Given the description of an element on the screen output the (x, y) to click on. 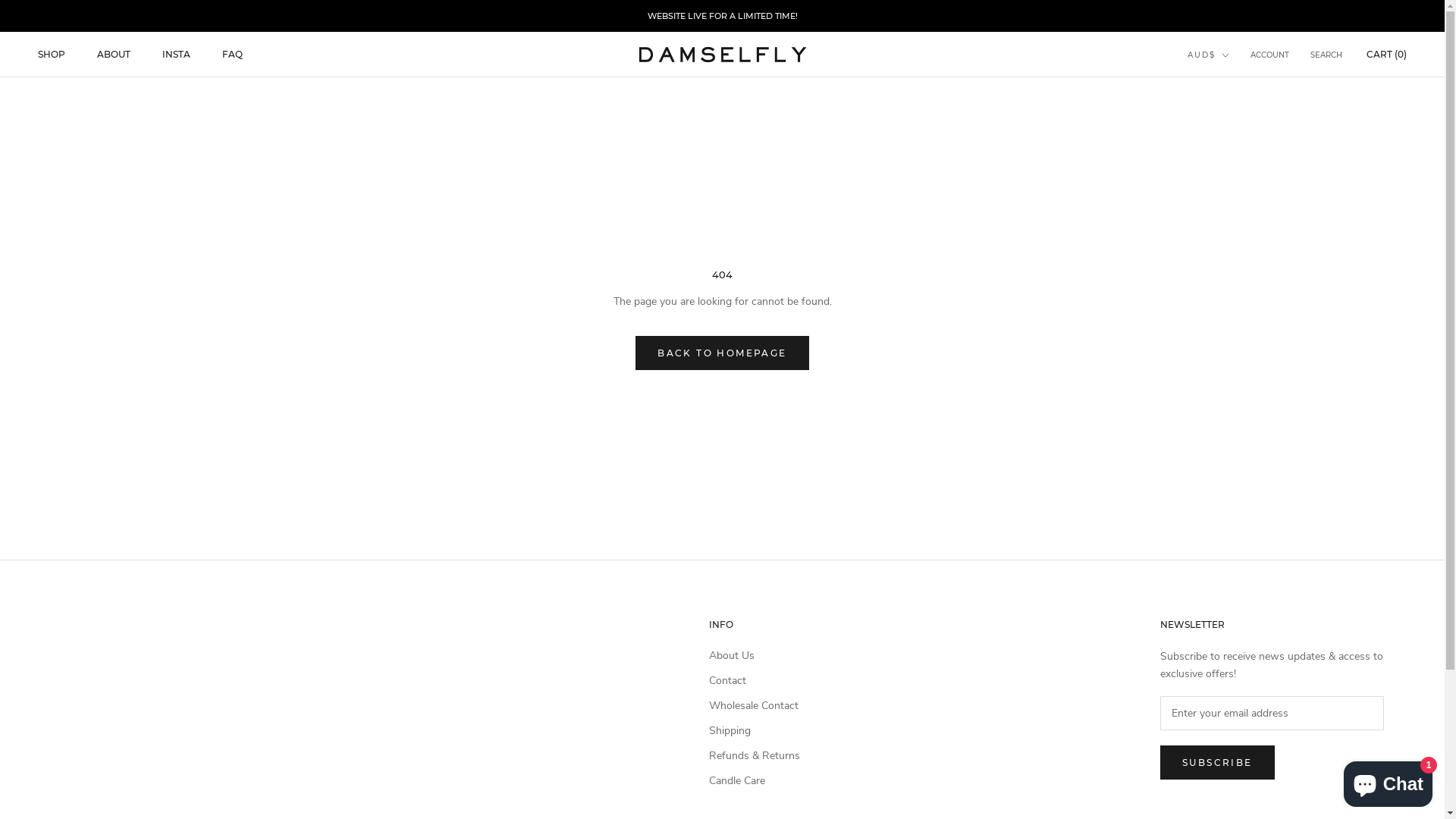
EUR Element type: text (1224, 127)
About Us Element type: text (754, 655)
BACK TO HOMEPAGE Element type: text (721, 352)
ACCOUNT Element type: text (1269, 55)
ABOUT
ABOUT Element type: text (113, 53)
INSTA
INSTA Element type: text (176, 53)
CAD Element type: text (1224, 107)
Contact Element type: text (754, 680)
SHOP
SHOP Element type: text (51, 53)
Candle Care Element type: text (754, 780)
Shipping Element type: text (754, 730)
Refunds & Returns Element type: text (754, 755)
JPY Element type: text (1224, 187)
AUD$ Element type: text (1208, 55)
Shopify online store chat Element type: hover (1388, 780)
SGD Element type: text (1224, 227)
Wholesale Contact Element type: text (754, 705)
USD Element type: text (1224, 248)
GBP Element type: text (1224, 147)
NZD Element type: text (1224, 207)
FAQ
FAQ Element type: text (232, 53)
SUBSCRIBE Element type: text (1217, 762)
WEBSITE LIVE FOR A LIMITED TIME! Element type: text (722, 15)
SEARCH Element type: text (1326, 55)
HKD Element type: text (1224, 167)
AUD Element type: text (1224, 87)
CART (0) Element type: text (1386, 53)
